Given the description of an element on the screen output the (x, y) to click on. 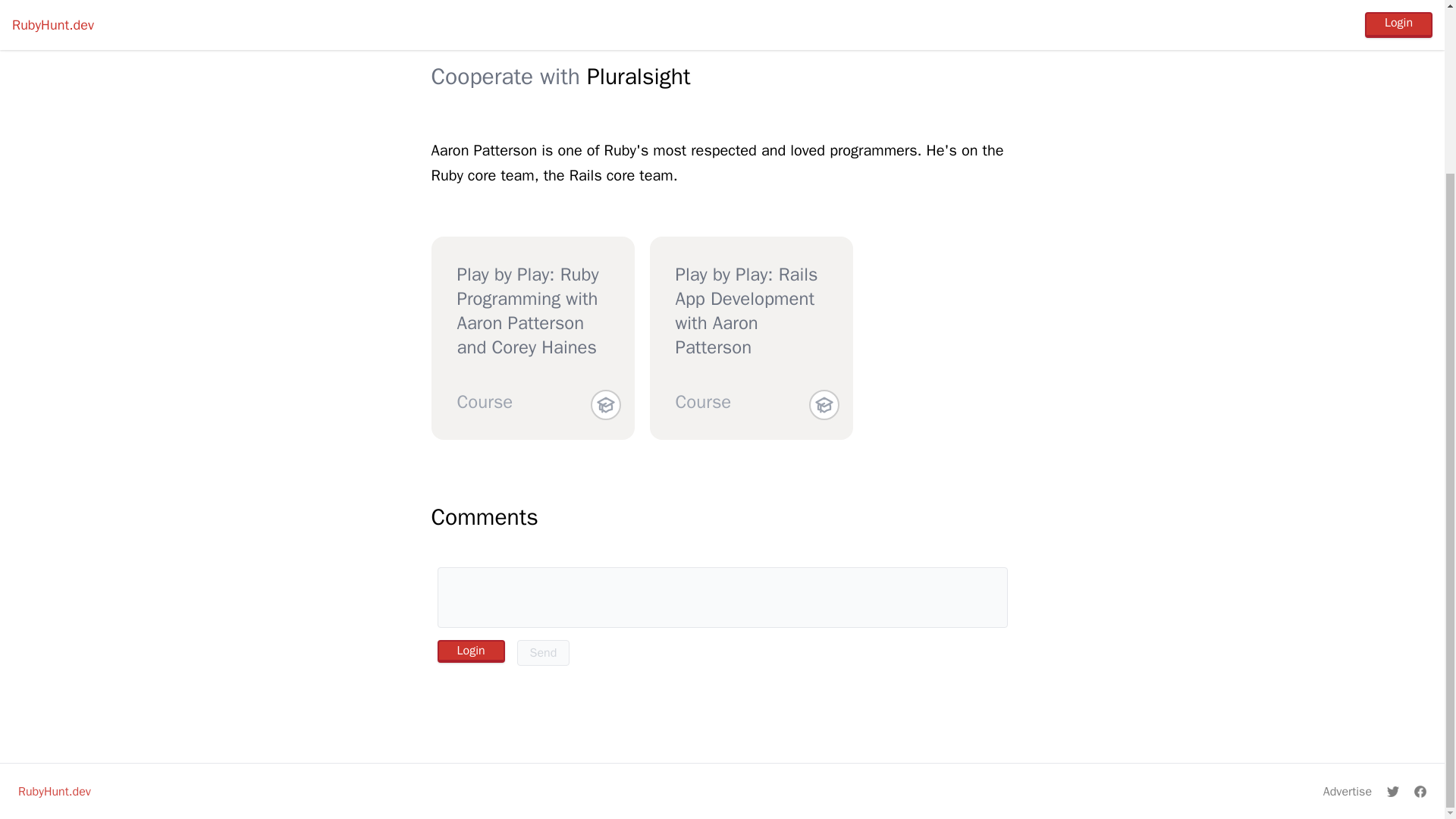
Advertise (1347, 791)
Twitter (728, 30)
Pluralsight (638, 76)
RubyHunt.dev (53, 791)
Login (469, 650)
Github (807, 30)
Official website (606, 30)
Login (469, 650)
Send (543, 652)
